Given the description of an element on the screen output the (x, y) to click on. 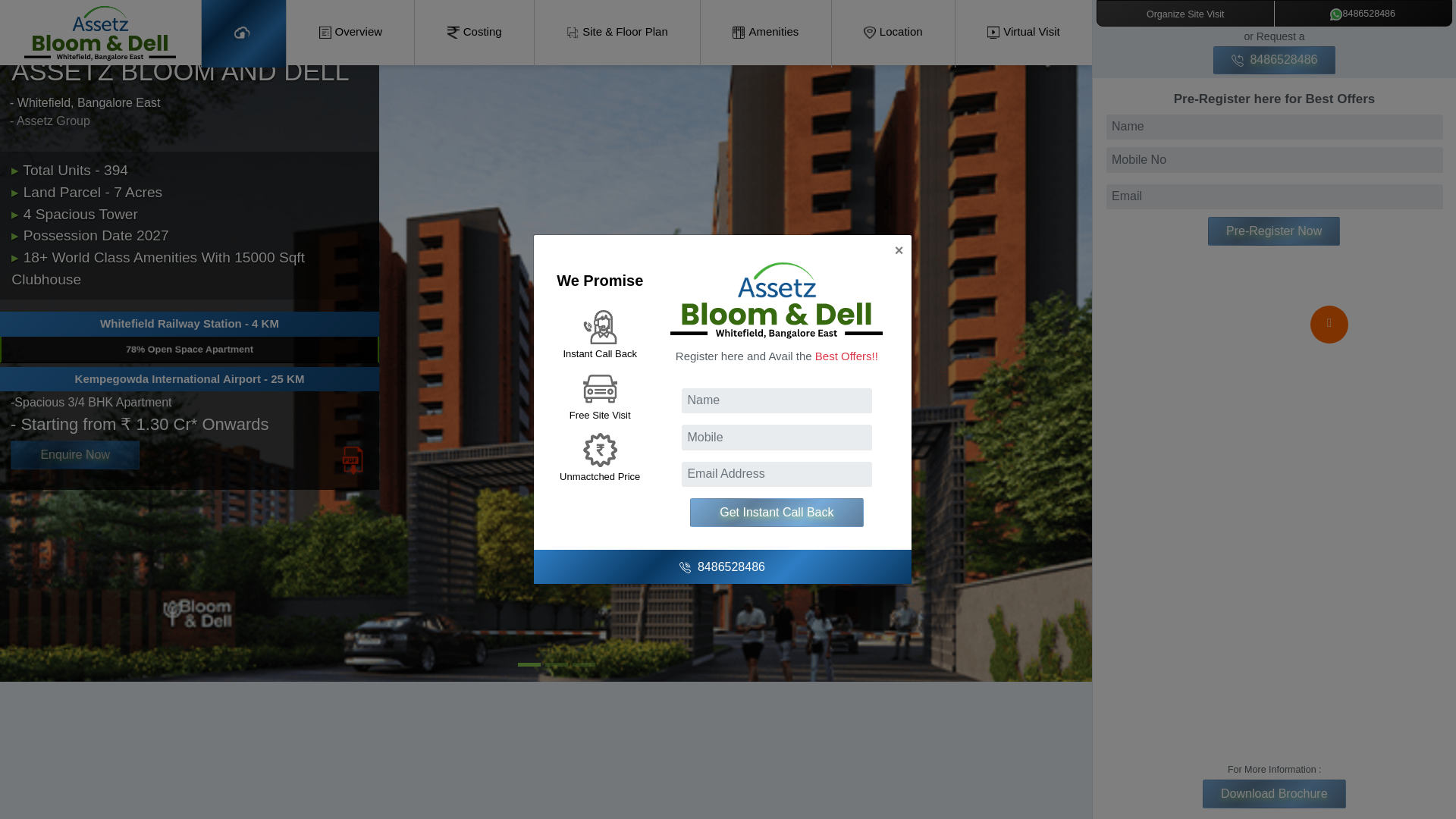
Assetz-Bloom-And-Dell (244, 31)
Costing (473, 31)
Assetz Bloom And Dell (893, 31)
Location (893, 31)
  8486528486 (1274, 59)
Amenities (764, 31)
Organize Site Visit (1185, 14)
Assetz Bloom And Dell (764, 31)
Assetz Bloom And Dell (100, 33)
Enquire Now (74, 454)
Download Brochure (1273, 793)
Assetz Bloom And Dell (349, 31)
Assetz Bloom And Dell (473, 31)
Pre-Register Now (1273, 231)
Assetz Bloom And Dell (617, 31)
